Given the description of an element on the screen output the (x, y) to click on. 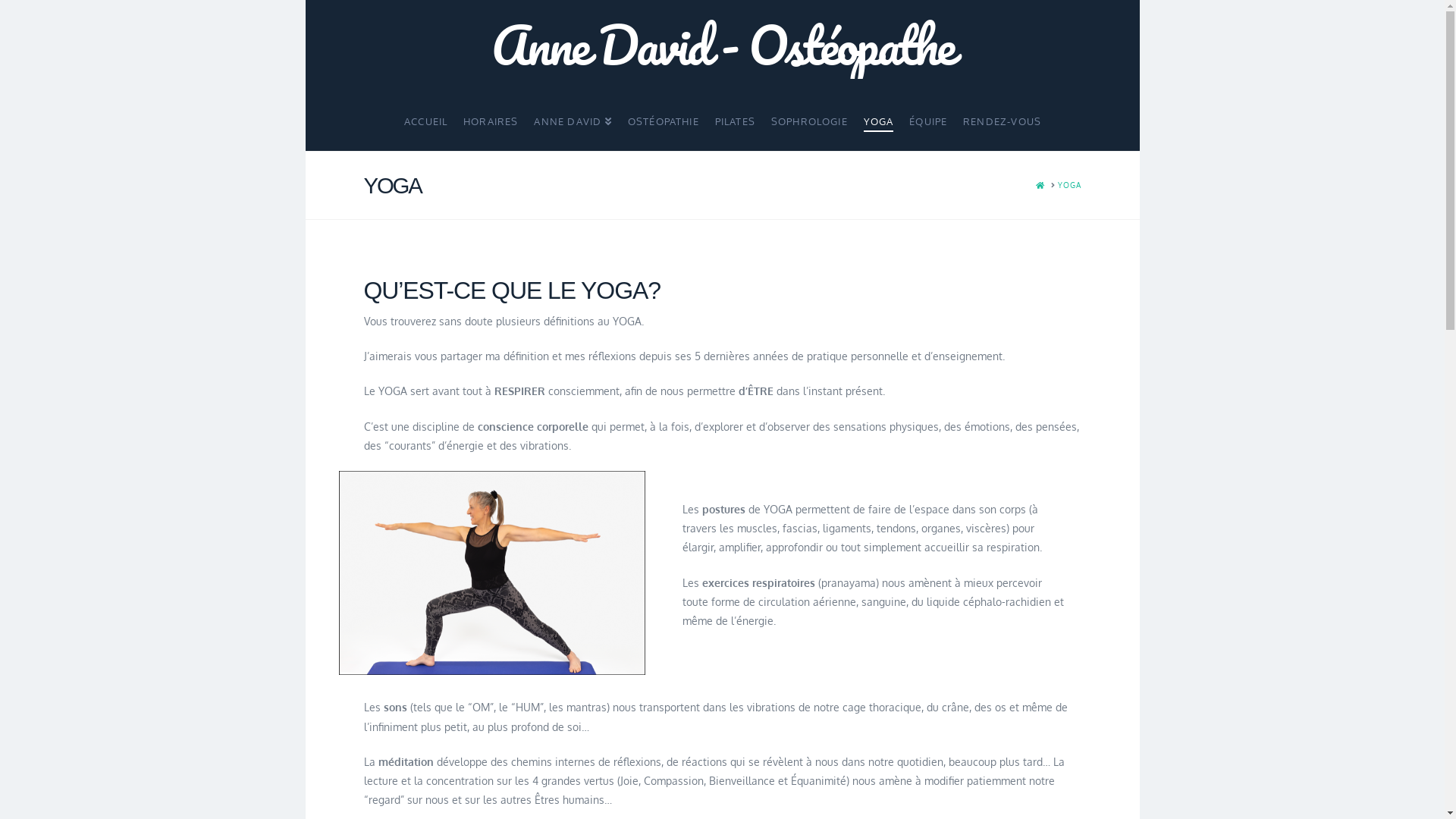
SOPHROLOGIE Element type: text (808, 114)
PILATES Element type: text (734, 114)
RENDEZ-VOUS Element type: text (1001, 114)
YOGA Element type: text (1068, 185)
HOME Element type: text (1039, 185)
YOGA Element type: text (878, 114)
ANNE DAVID Element type: text (571, 114)
HORAIRES Element type: text (490, 114)
ACCUEIL Element type: text (425, 114)
